Given the description of an element on the screen output the (x, y) to click on. 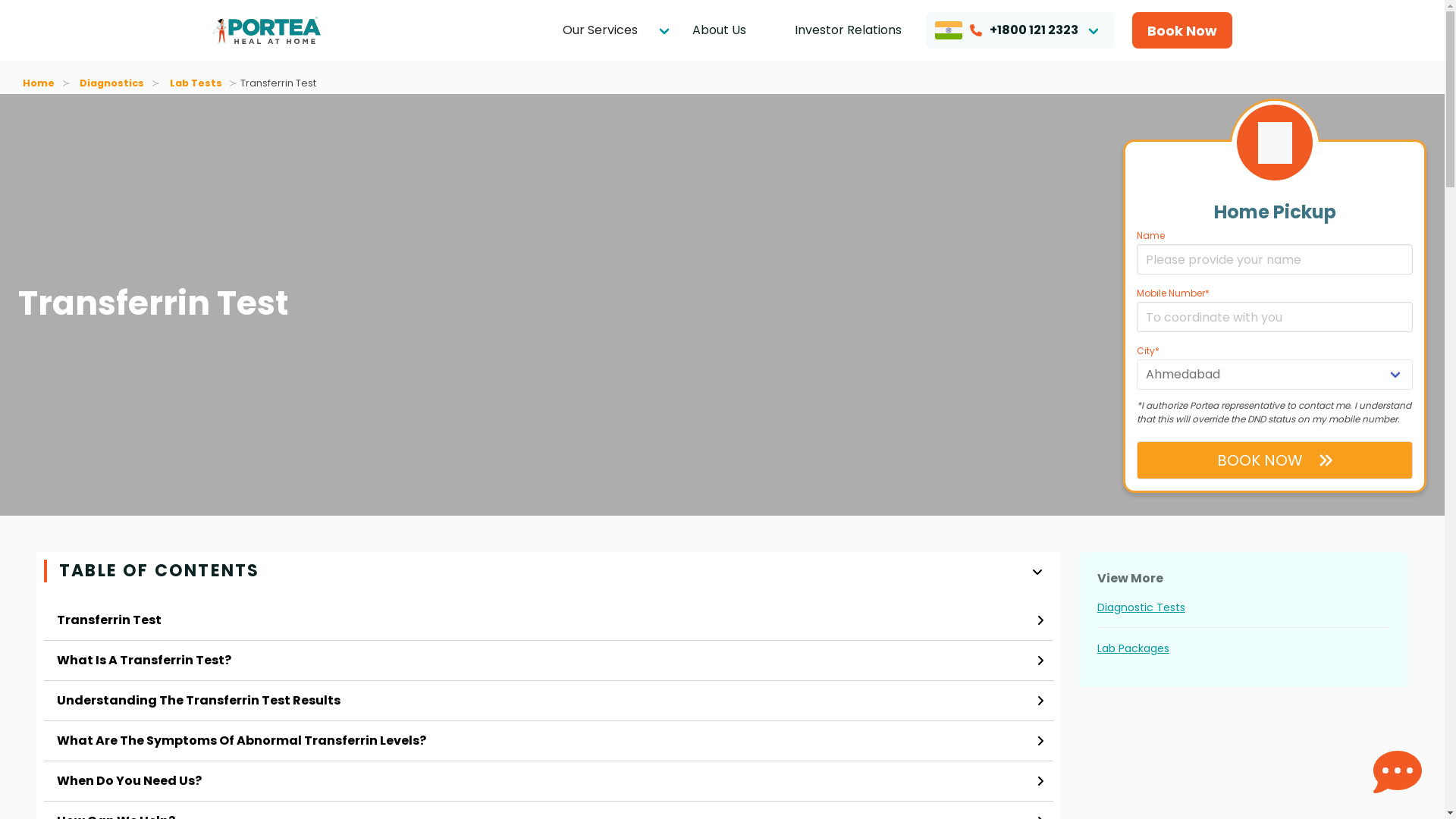
About Us (718, 29)
What Are The Symptoms Of Abnormal Transferrin Levels? (547, 740)
Investor Relations (848, 29)
When Do You Need Us? (547, 780)
BOOK NOW (1274, 460)
Understanding The Transferrin Test Results (547, 700)
How Can We Help? (547, 810)
Diagnostics (111, 83)
Home (42, 83)
What Is A Transferrin Test? (547, 660)
Book Now (1181, 30)
Transferrin Test (547, 619)
Lab Tests (194, 83)
